Given the description of an element on the screen output the (x, y) to click on. 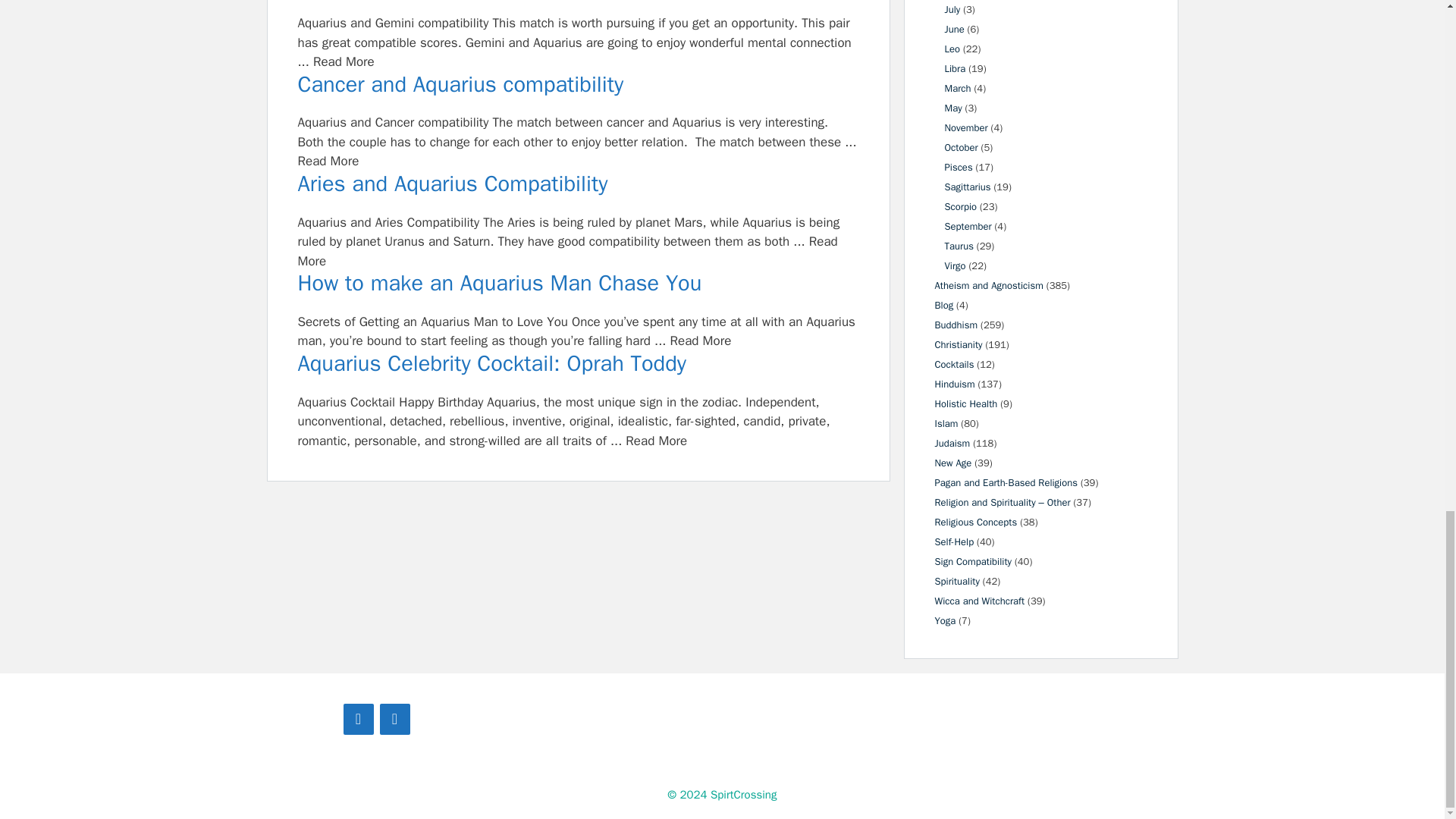
Aquarius Celebrity Cocktail: Oprah Toddy (578, 364)
Facebook (357, 718)
Cancer and Aquarius compatibility (578, 85)
Twitter (393, 718)
Aries and Aquarius Compatibility (578, 184)
How to make an Aquarius Man Chase You (578, 284)
